Given the description of an element on the screen output the (x, y) to click on. 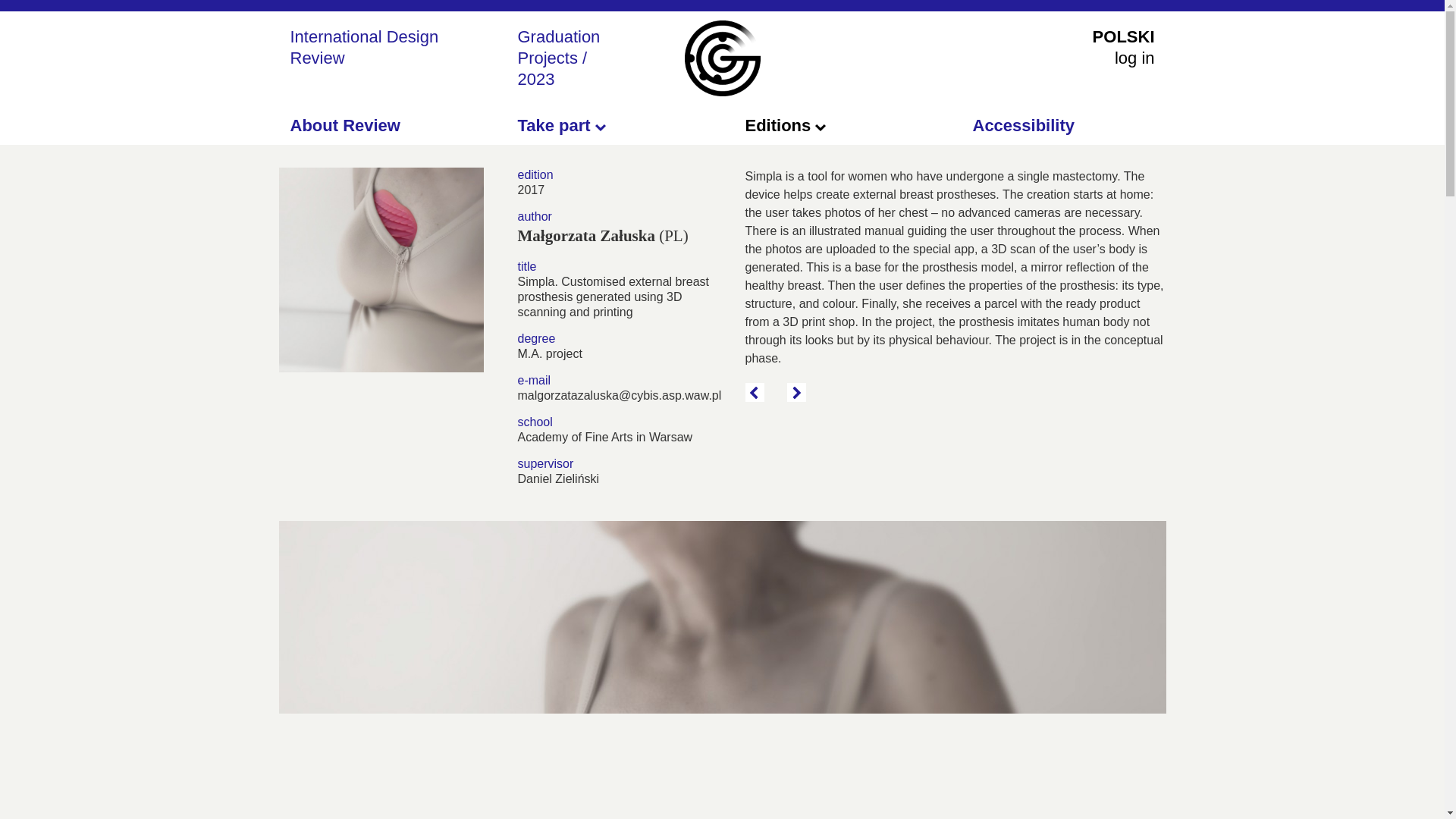
POLSKI (1123, 36)
Take part (560, 125)
International Design Review (363, 47)
Editions (784, 125)
About Review (343, 125)
log in (1134, 57)
